Given the description of an element on the screen output the (x, y) to click on. 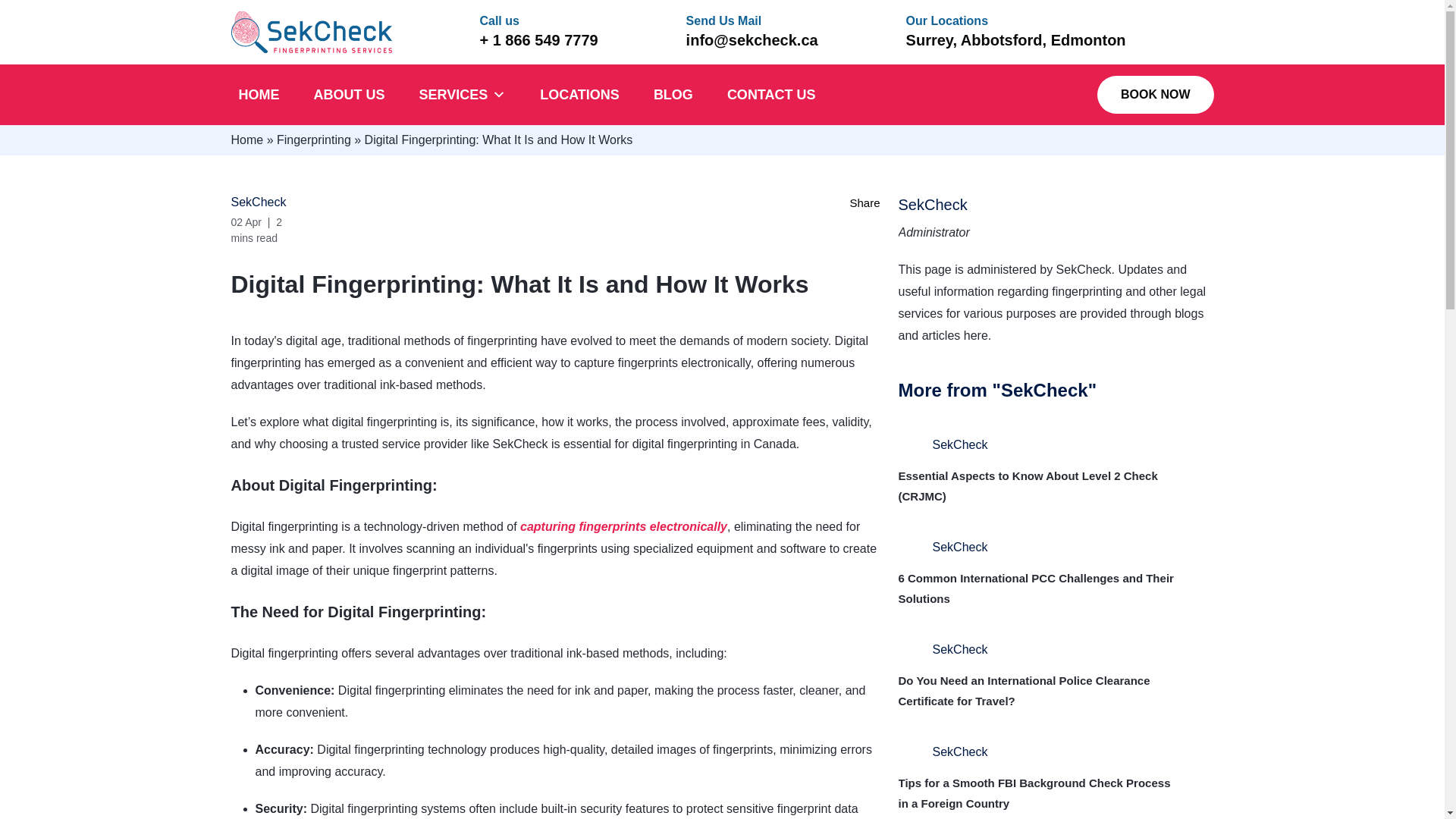
Fingerprinting (313, 139)
6 Common International PCC Challenges and Their Solutions (1035, 588)
CONTACT US (771, 94)
SERVICES (461, 94)
Home (246, 139)
ABOUT US (349, 94)
SekCheck (932, 204)
capturing fingerprints electronically (622, 526)
BLOG (673, 94)
BOOK NOW (1155, 94)
LOCATIONS (579, 94)
HOME (258, 94)
Surrey, Abbotsford, Edmonton (1015, 39)
